Given the description of an element on the screen output the (x, y) to click on. 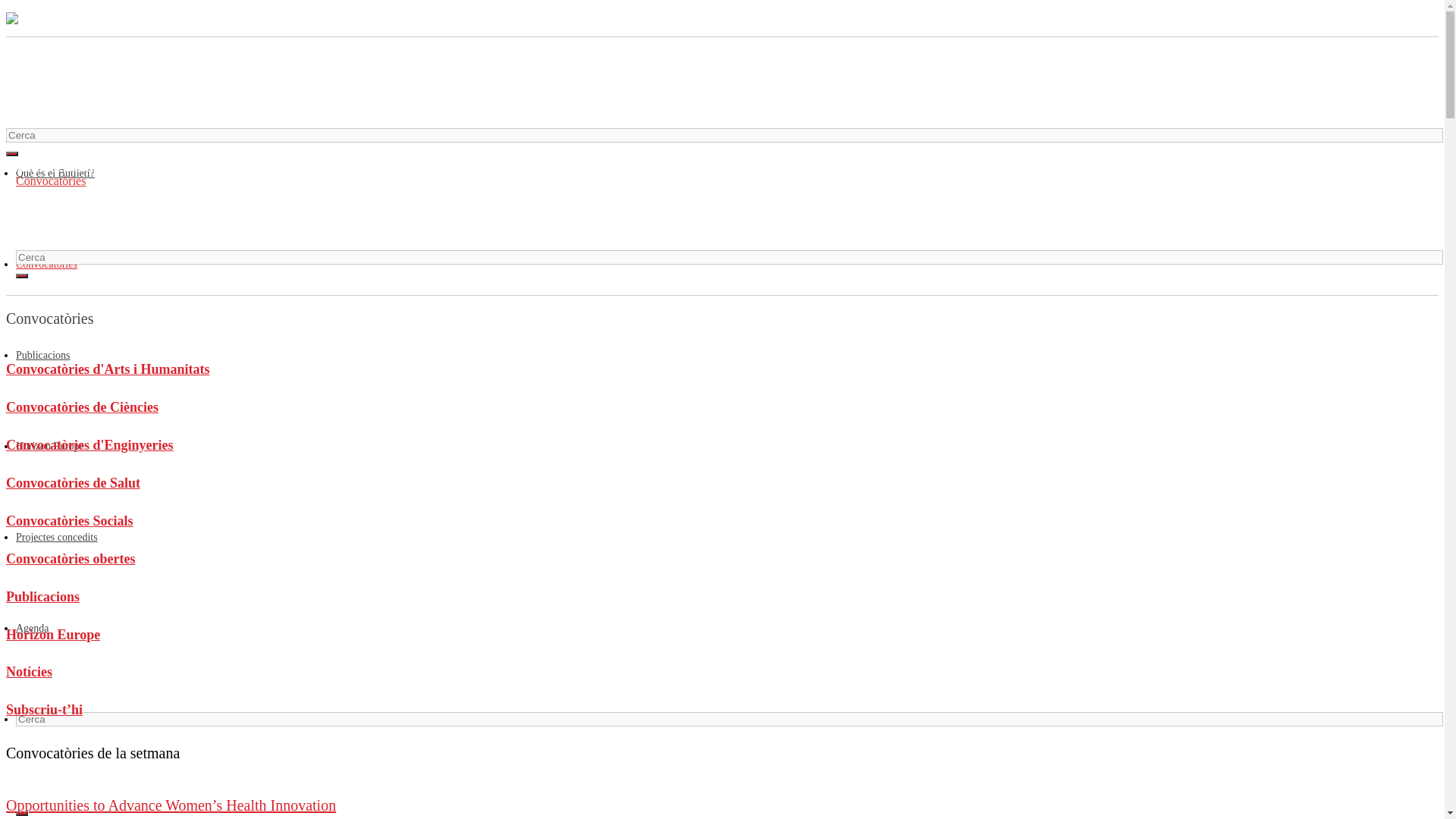
Agenda Element type: text (34, 241)
Publicacions Element type: text (42, 356)
Horizon Europe Element type: text (49, 447)
Projectes concedits Element type: text (62, 225)
Agenda Element type: text (32, 629)
Publicacions Element type: text (722, 596)
Horizon Europe Element type: text (722, 634)
Publicacions Element type: text (46, 195)
Horizon Europe Element type: text (54, 210)
Projectes concedits Element type: text (56, 538)
